Given the description of an element on the screen output the (x, y) to click on. 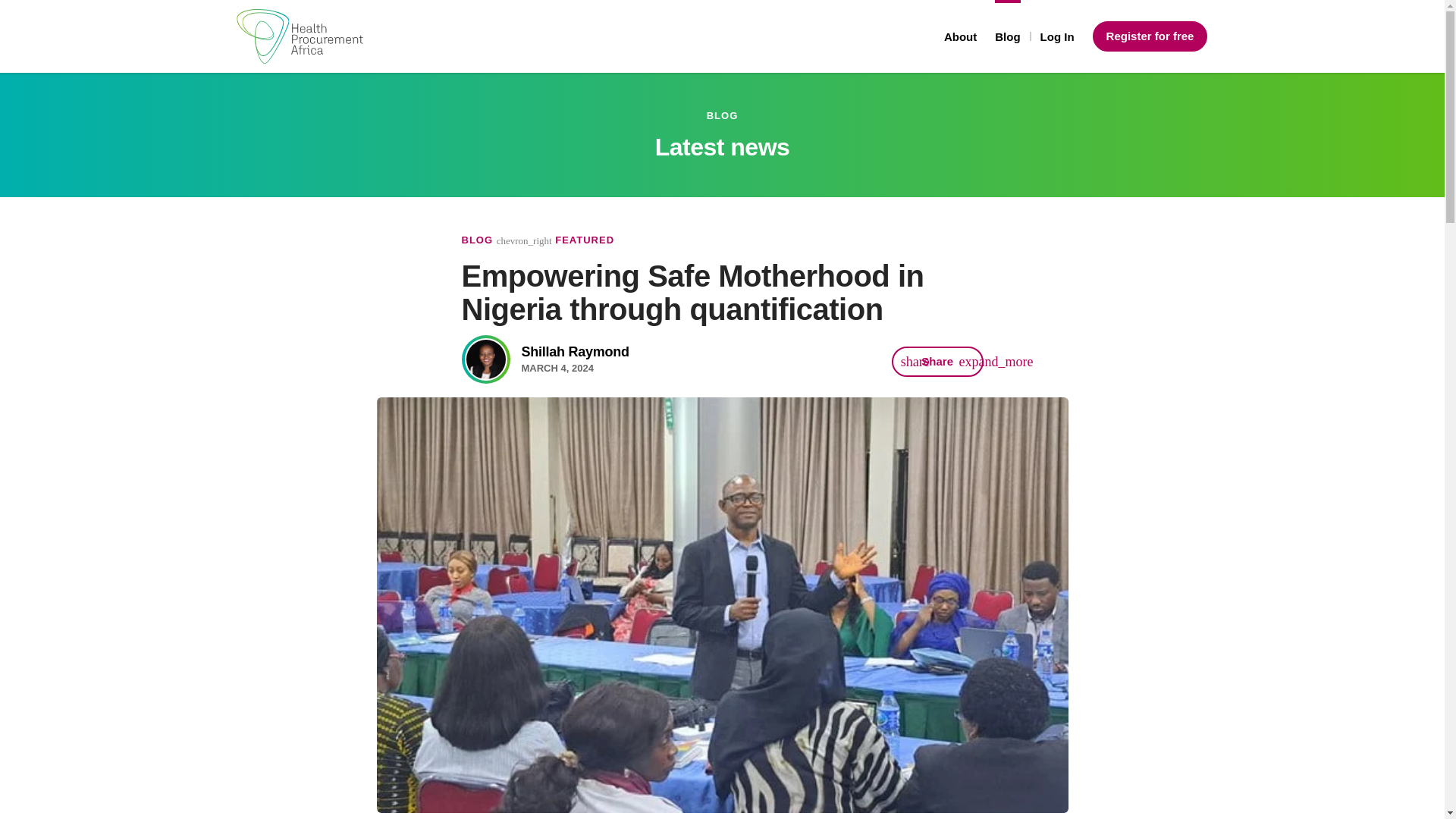
FEATURED (584, 240)
Log In (1057, 36)
Blog (1007, 36)
BLOG (477, 240)
About (959, 36)
Register for free (544, 359)
